Given the description of an element on the screen output the (x, y) to click on. 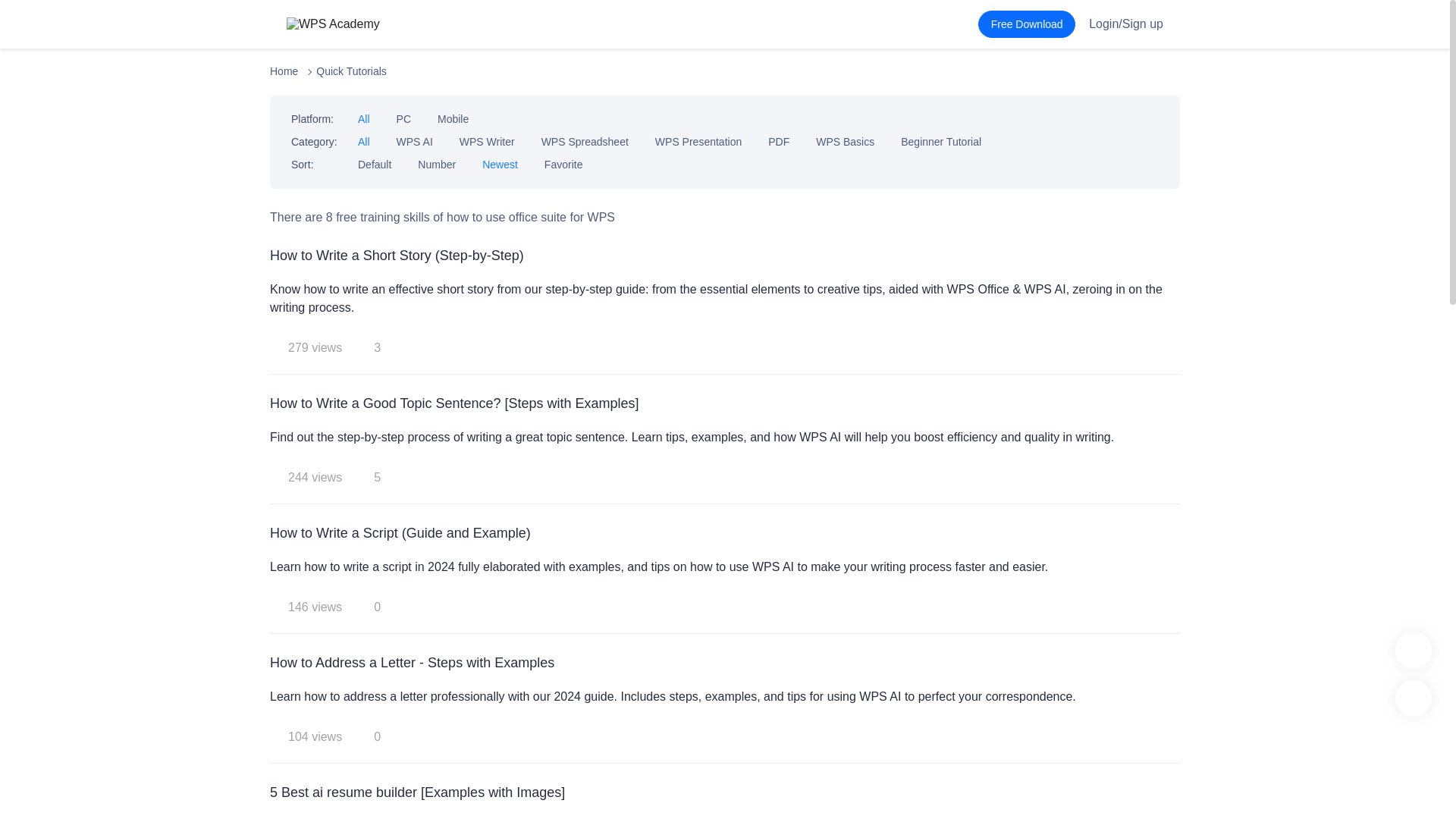
WPS Spreadsheet (584, 141)
Quick Tutorials (351, 71)
Default (374, 164)
PC (403, 119)
Home (283, 71)
Number (436, 164)
WPS Presentation (698, 141)
WPS Basics (845, 141)
WPS AI (414, 141)
All (363, 141)
PDF (778, 141)
Newest (499, 164)
Beginner Tutorial (941, 141)
